Given the description of an element on the screen output the (x, y) to click on. 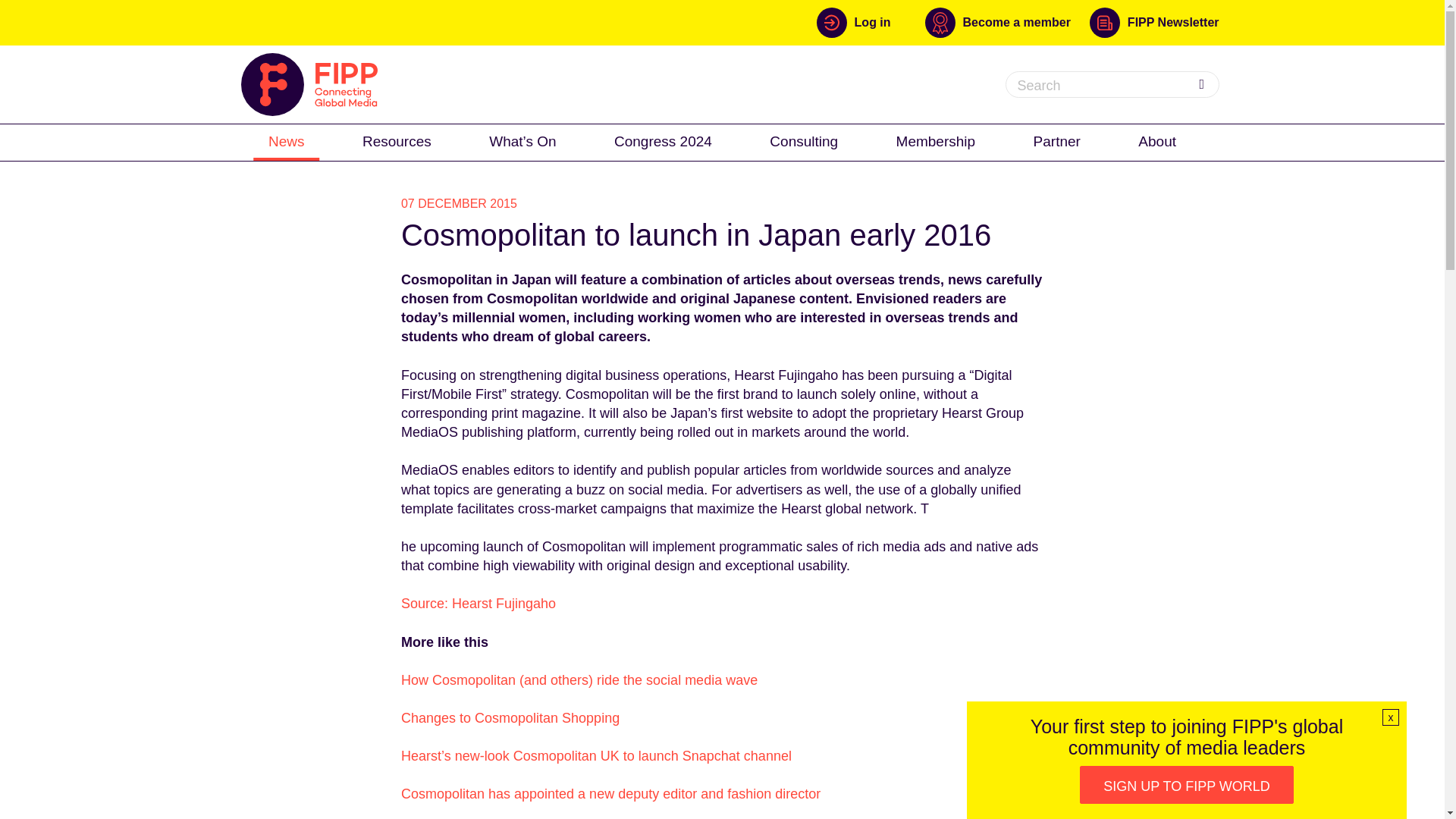
Congress 2024 (662, 141)
About (1156, 141)
Become a member (1006, 22)
Resources (396, 141)
Partner (1056, 141)
Membership (935, 141)
FIPP Newsletter (1154, 22)
Source: Hearst Fujingaho (478, 603)
Changes to Cosmopolitan Shopping (510, 717)
News (286, 141)
Consulting (803, 141)
